Given the description of an element on the screen output the (x, y) to click on. 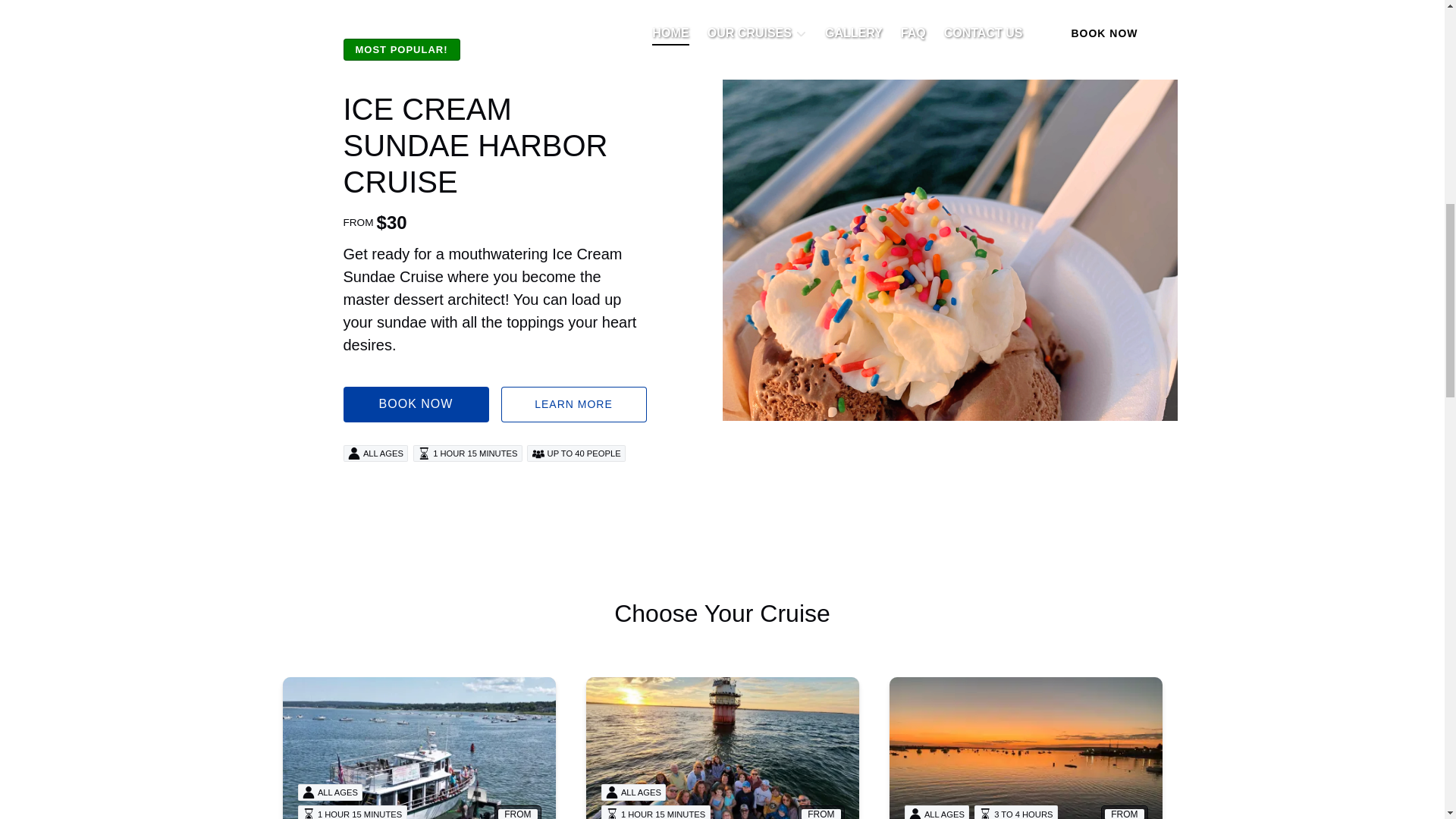
LEARN MORE (573, 403)
FareHarbor (1342, 64)
BOOK NOW (414, 403)
Click here to visit ICE CREAM SUNDAE HARBOR CRUISE (474, 145)
ICE CREAM SUNDAE HARBOR CRUISE (474, 145)
